Given the description of an element on the screen output the (x, y) to click on. 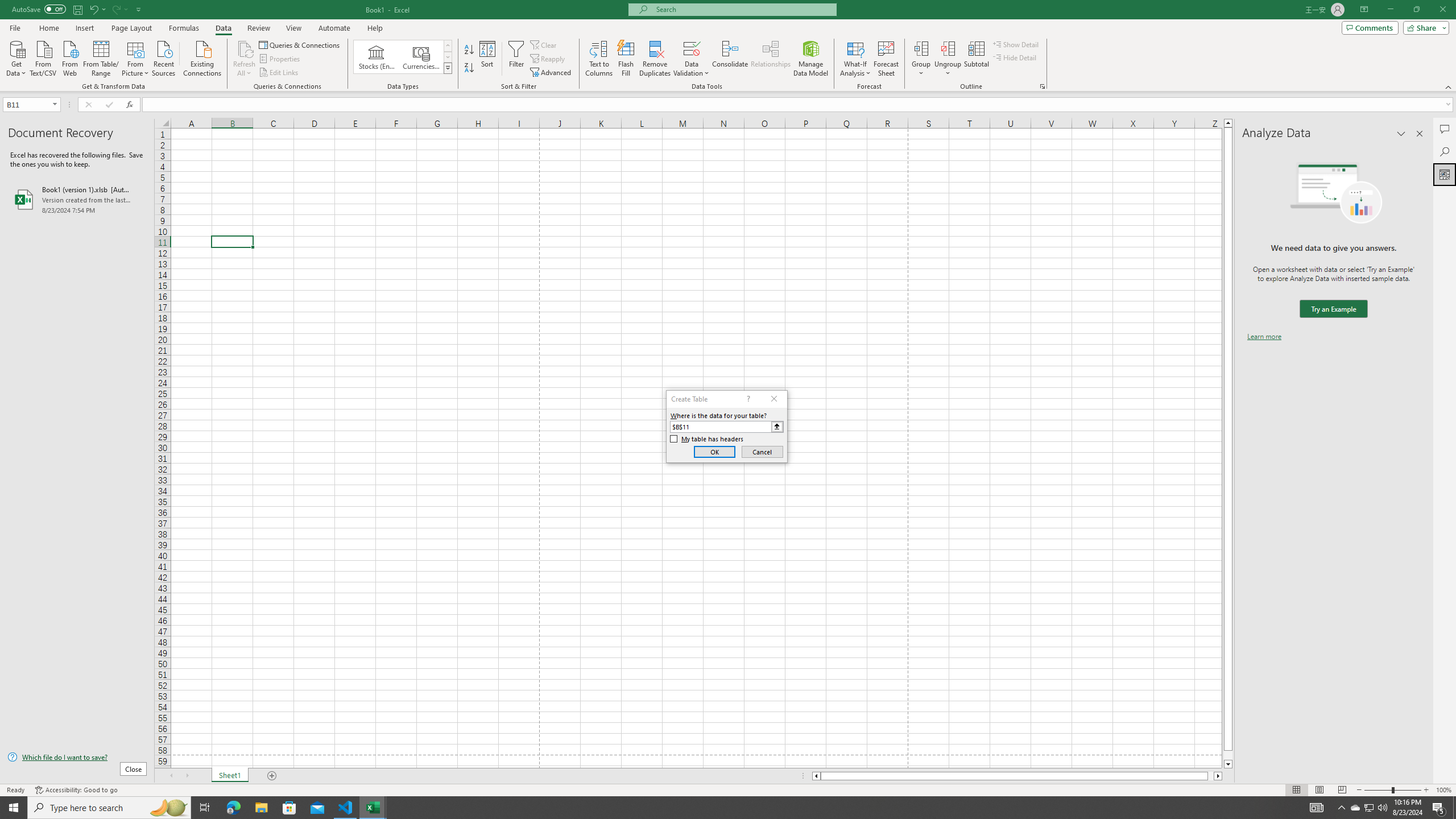
AutoSave (38, 9)
What-If Analysis (855, 58)
Data Types (448, 67)
From Picture (135, 57)
Open (54, 104)
Comments (1369, 27)
Clear (544, 44)
Group and Outline Settings (1042, 85)
Advanced... (551, 72)
Help (374, 28)
Remove Duplicates (654, 58)
Learn more (1264, 336)
Data (223, 28)
Queries & Connections (300, 44)
Edit Links (279, 72)
